Given the description of an element on the screen output the (x, y) to click on. 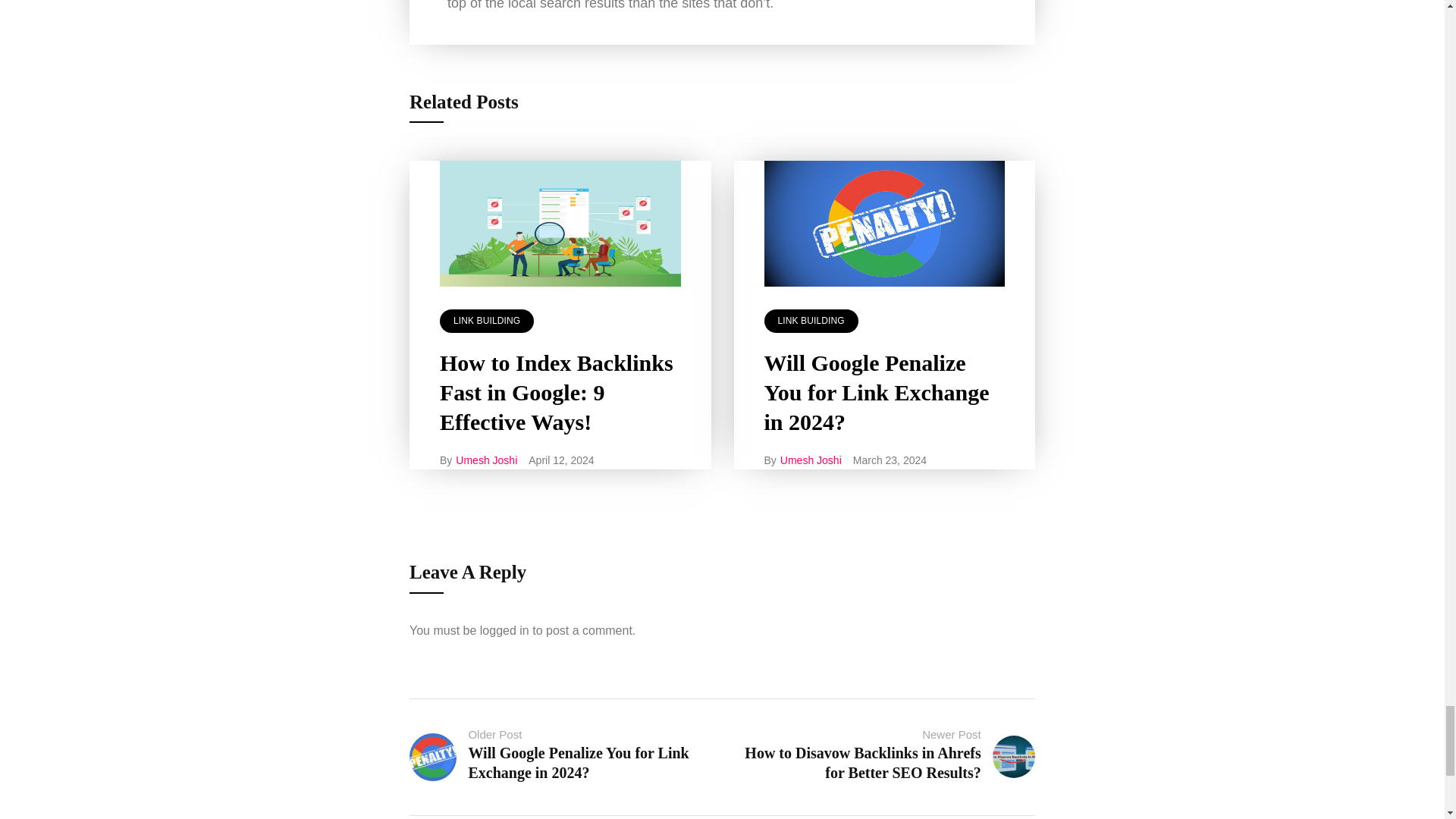
LINK BUILDING (811, 320)
Older Post (494, 734)
How to Disavow Backlinks in Ahrefs for Better SEO Results? (861, 762)
Will Google Penalize You for Link Exchange in 2024?  (577, 762)
Umesh Joshi (485, 460)
Posts by Umesh Joshi (485, 460)
logged in (504, 630)
 google-penalty-for-link-exchange  (885, 223)
How to Index Backlinks Fast in Google: 9 Effective Ways! (555, 392)
 How to Index Backlinks Fast  (560, 223)
Umesh Joshi (810, 460)
Posts by Umesh Joshi (810, 460)
Newer Post (951, 734)
Will Google Penalize You for Link Exchange in 2024?  (877, 392)
LINK BUILDING (486, 320)
